Given the description of an element on the screen output the (x, y) to click on. 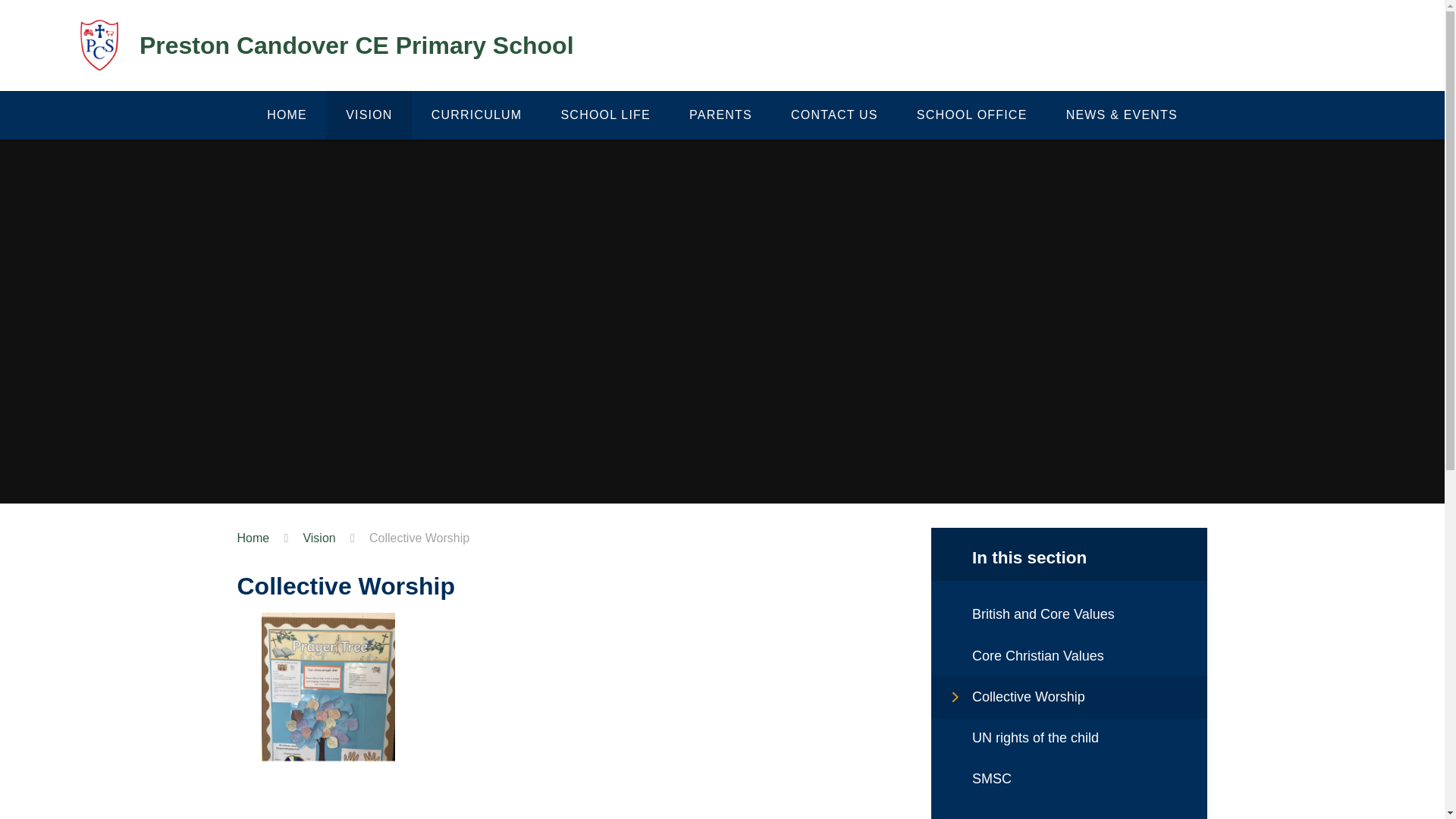
CURRICULUM (476, 114)
VISION (369, 114)
HOME (286, 114)
Preston Candover CE Primary School (322, 45)
